Given the description of an element on the screen output the (x, y) to click on. 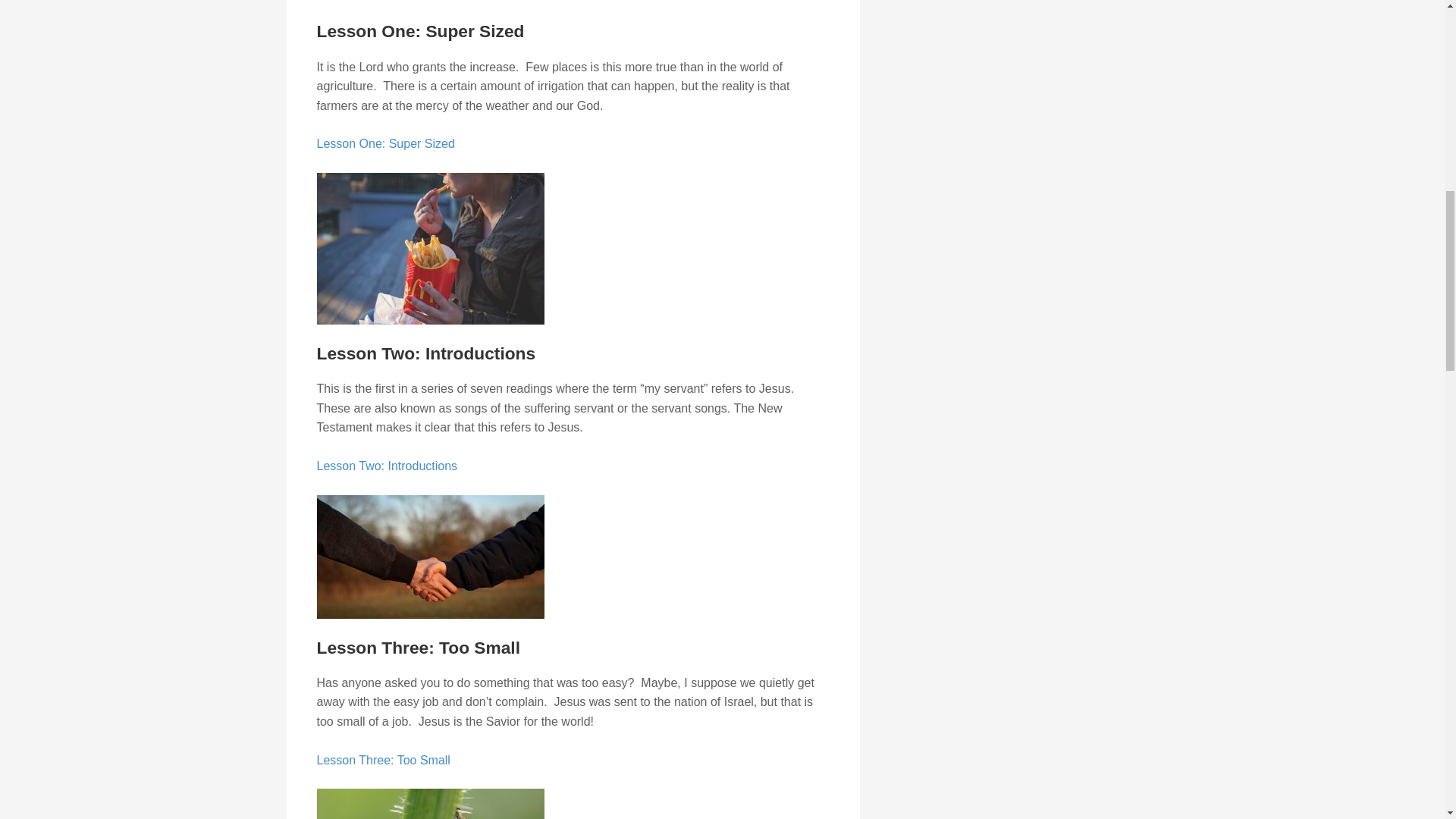
Lesson Two: Introductions (387, 465)
Lesson Three: Too Small (383, 759)
Lesson One: Super Sized (385, 143)
